Given the description of an element on the screen output the (x, y) to click on. 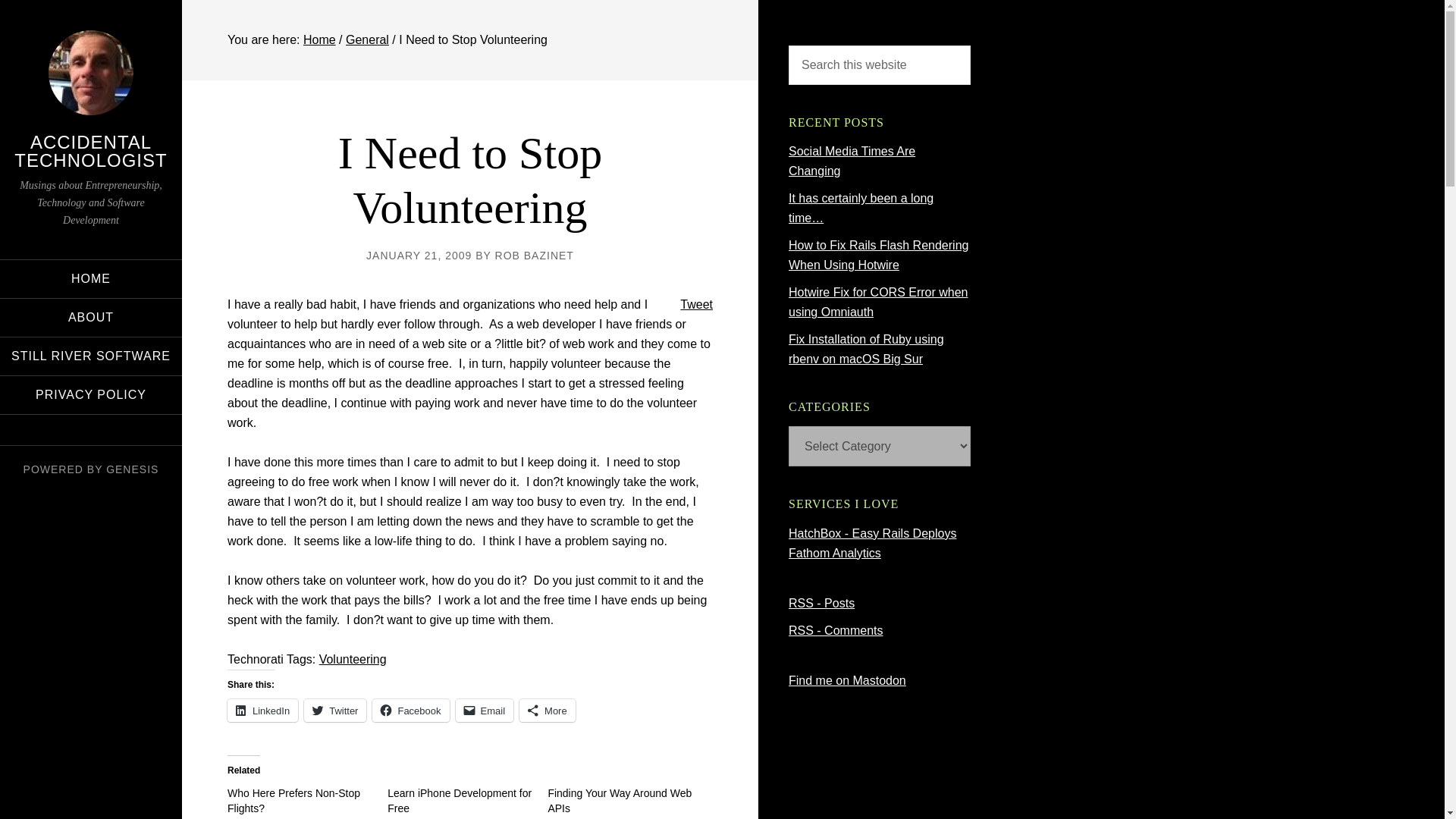
Learn iPhone Development for Free (459, 800)
LinkedIn (262, 710)
Volunteering (352, 658)
Learn iPhone Development for Free (459, 800)
HOME (91, 279)
Click to share on Facebook (410, 710)
Click to share on Twitter (335, 710)
Twitter (335, 710)
ACCIDENTAL TECHNOLOGIST (90, 150)
Finding Your Way Around Web APIs (619, 800)
